Given the description of an element on the screen output the (x, y) to click on. 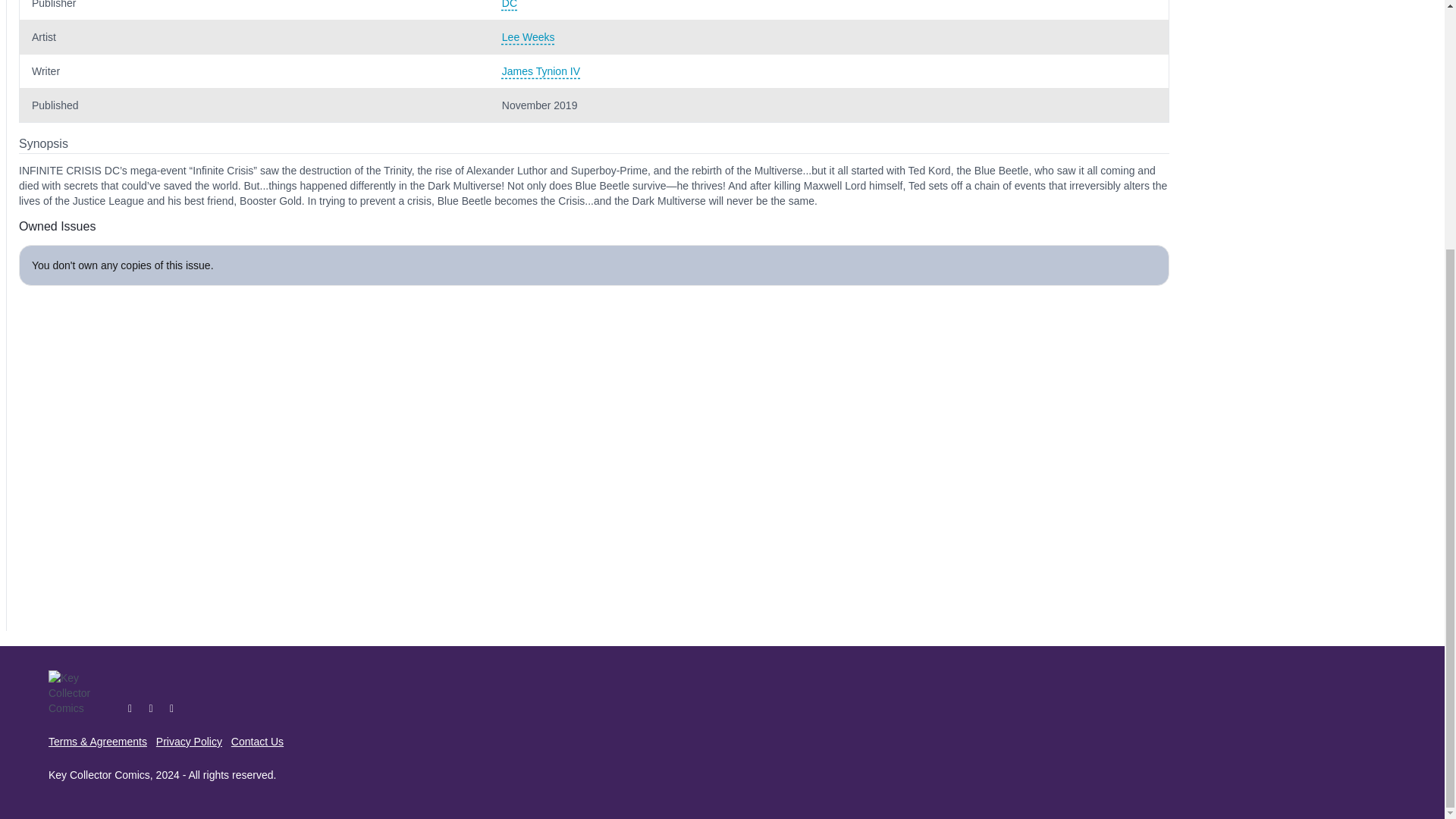
James Tynion IV (829, 70)
Lee Weeks (829, 37)
DC (829, 5)
